Given the description of an element on the screen output the (x, y) to click on. 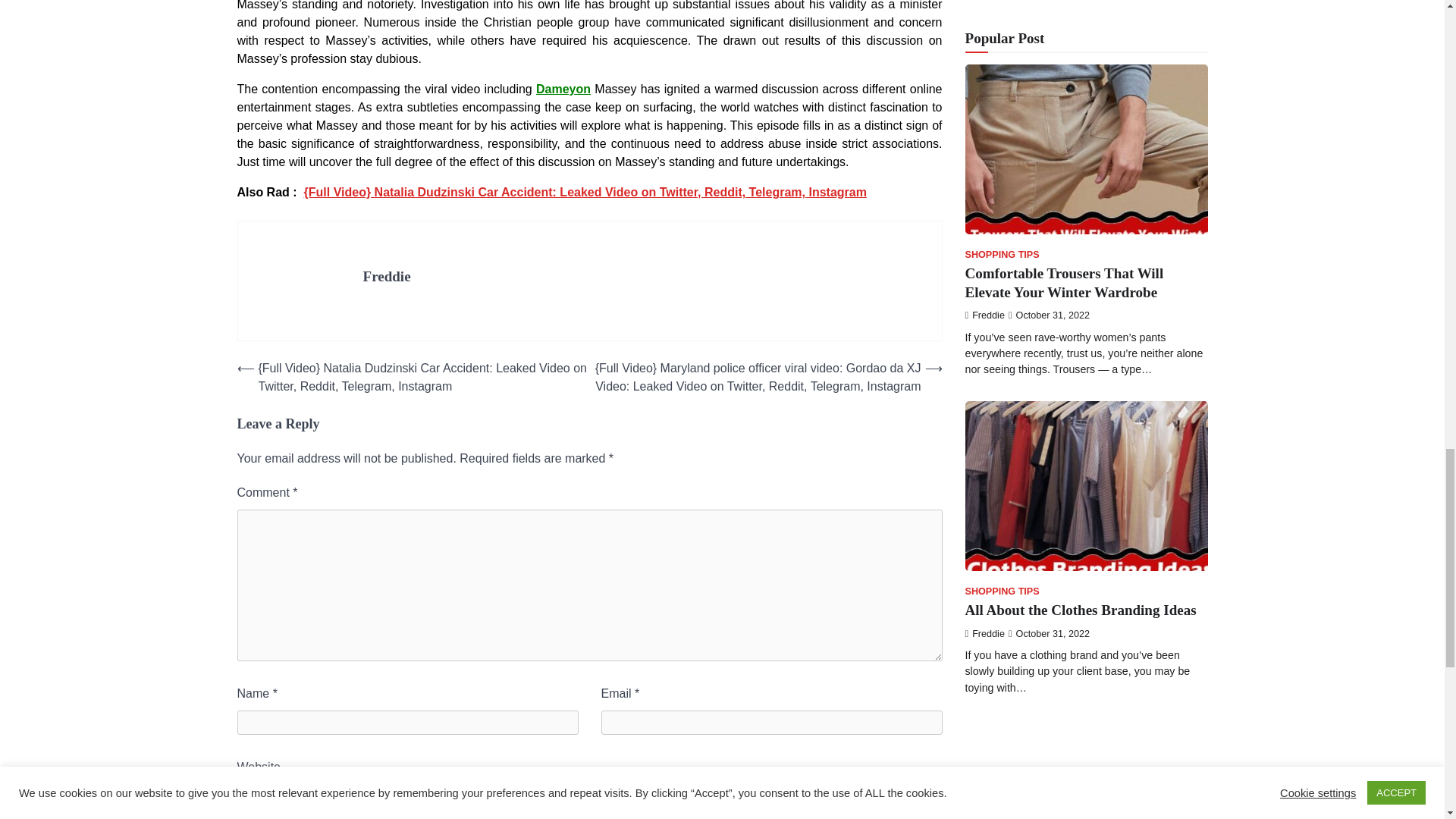
Dameyon (563, 88)
